Given the description of an element on the screen output the (x, y) to click on. 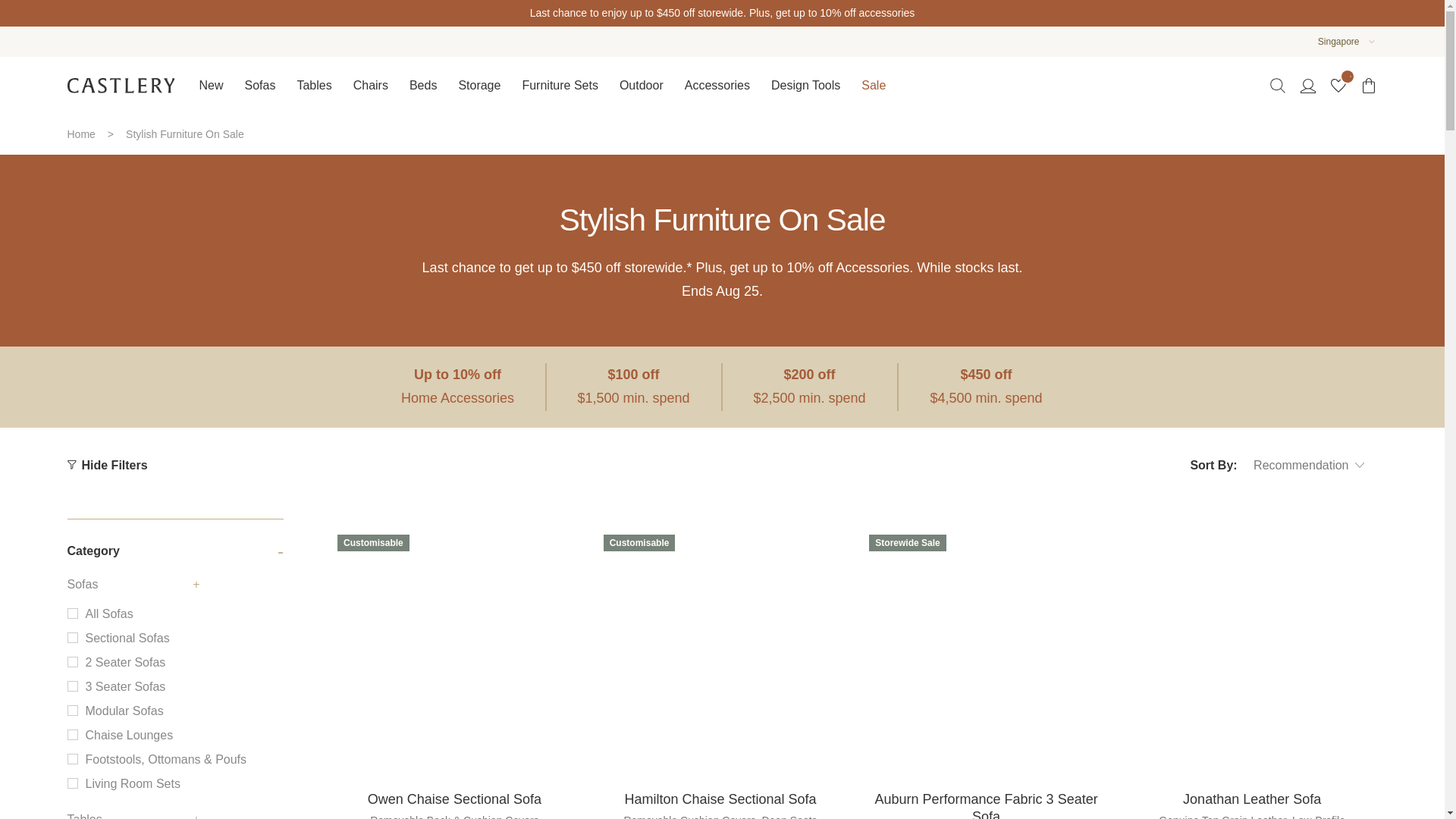
Singapore (1338, 41)
Tables (313, 85)
Sofas (258, 85)
